Given the description of an element on the screen output the (x, y) to click on. 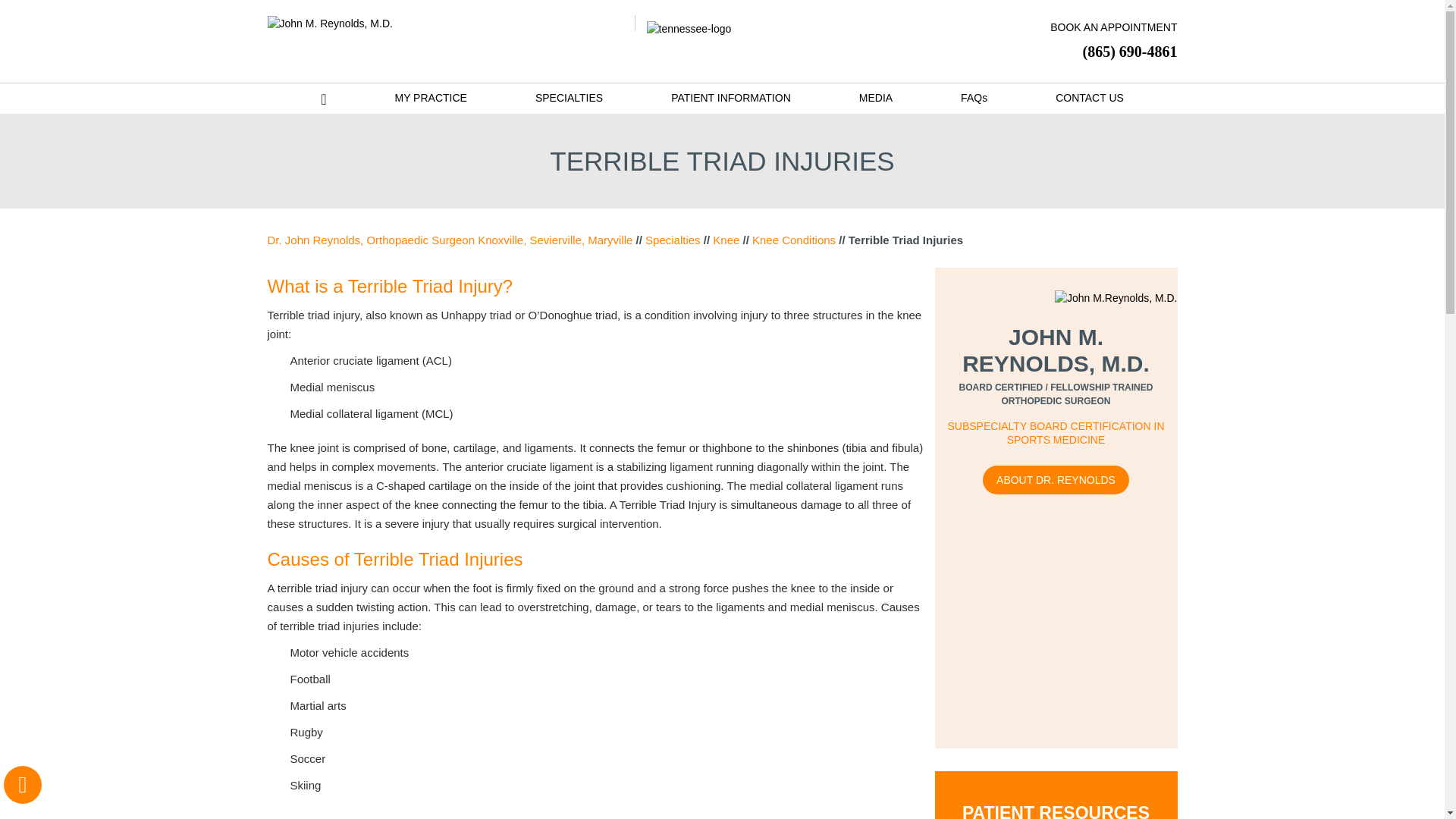
SPECIALTIES (568, 97)
PATIENT INFORMATION (731, 97)
MEDIA (875, 97)
MY PRACTICE (429, 97)
BOOK AN APPOINTMENT (1102, 28)
Hide (22, 784)
Accessible Tool Options (23, 784)
